Given the description of an element on the screen output the (x, y) to click on. 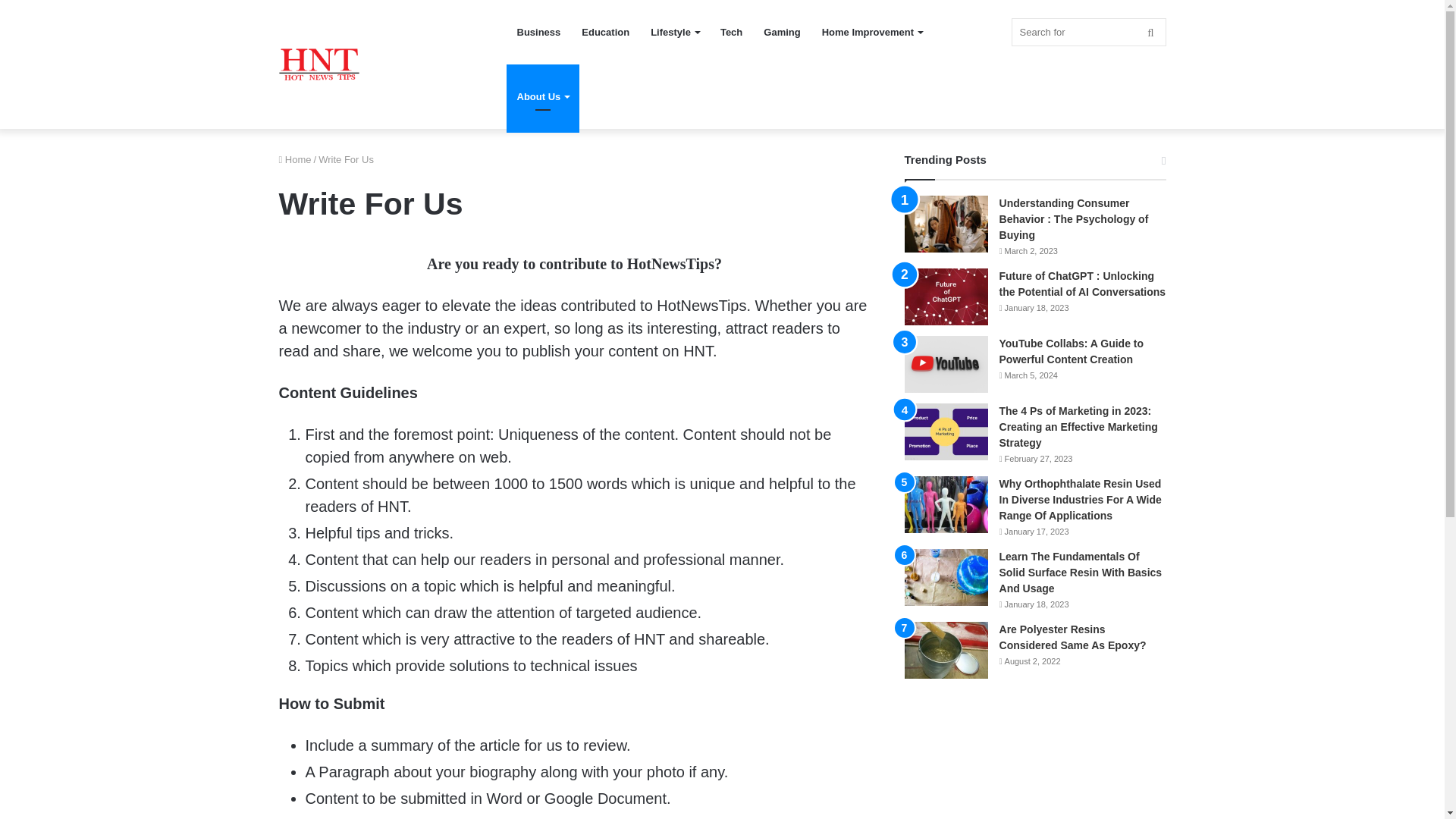
Business (539, 32)
Search for (1088, 31)
Home (295, 159)
About Us (542, 96)
HotNewsTips (319, 63)
Understanding Consumer Behavior : The Psychology of Buying (1073, 218)
Gaming (781, 32)
Home Improvement (871, 32)
YouTube Collabs: A Guide to Powerful Content Creation (1071, 351)
Lifestyle (675, 32)
Search for (1150, 32)
